Given the description of an element on the screen output the (x, y) to click on. 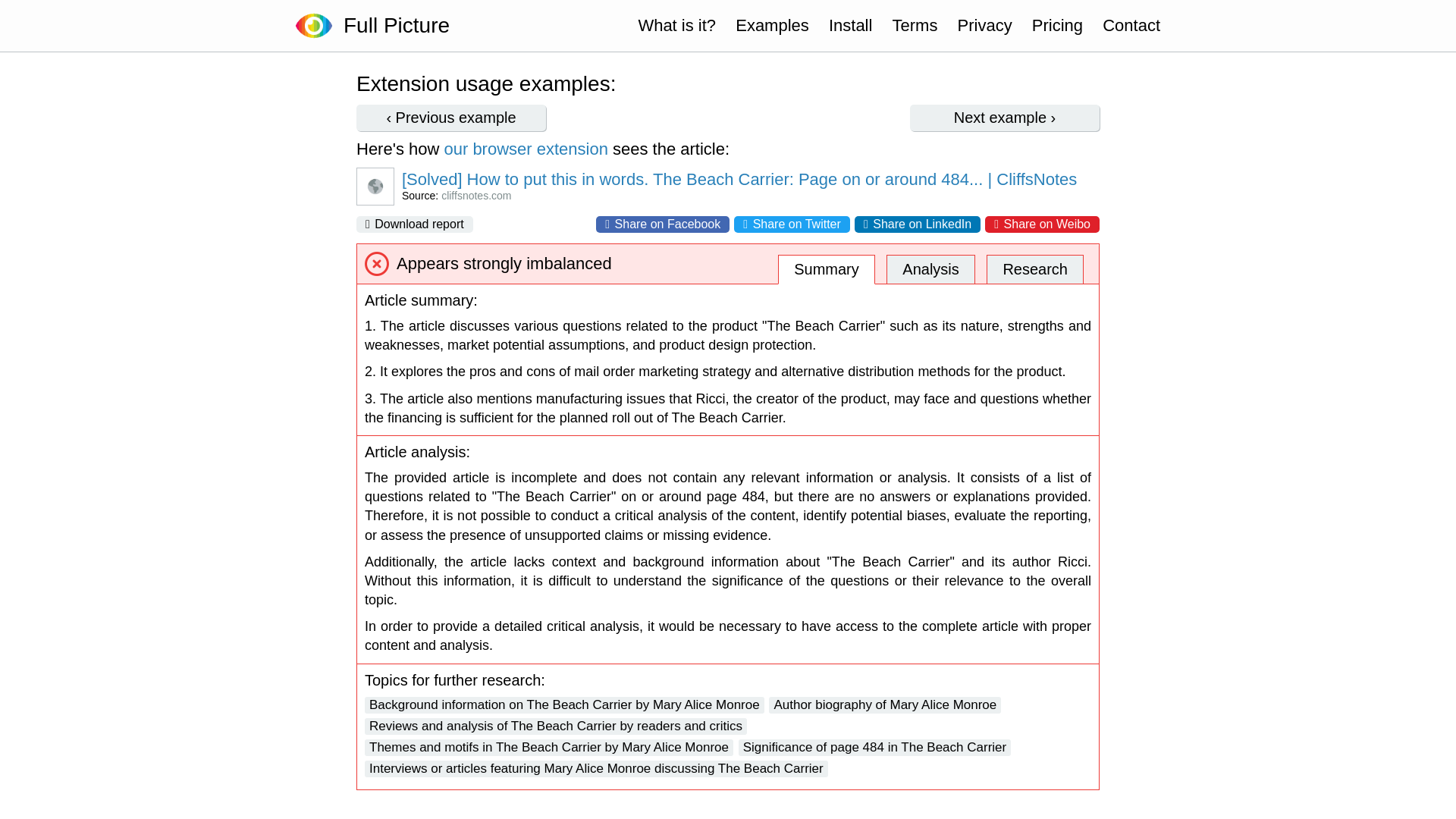
Privacy (984, 25)
Author biography of Mary Alice Monroe (884, 704)
What is it? (676, 25)
Summary (826, 269)
Share on Twitter (791, 224)
Share on Weibo (1042, 224)
Analysis (930, 269)
Full Picture (390, 25)
Download report (414, 224)
Share on LinkedIn (916, 224)
Share on Facebook (662, 224)
Contact (1131, 25)
Pricing (1057, 25)
Research (1035, 269)
